Given the description of an element on the screen output the (x, y) to click on. 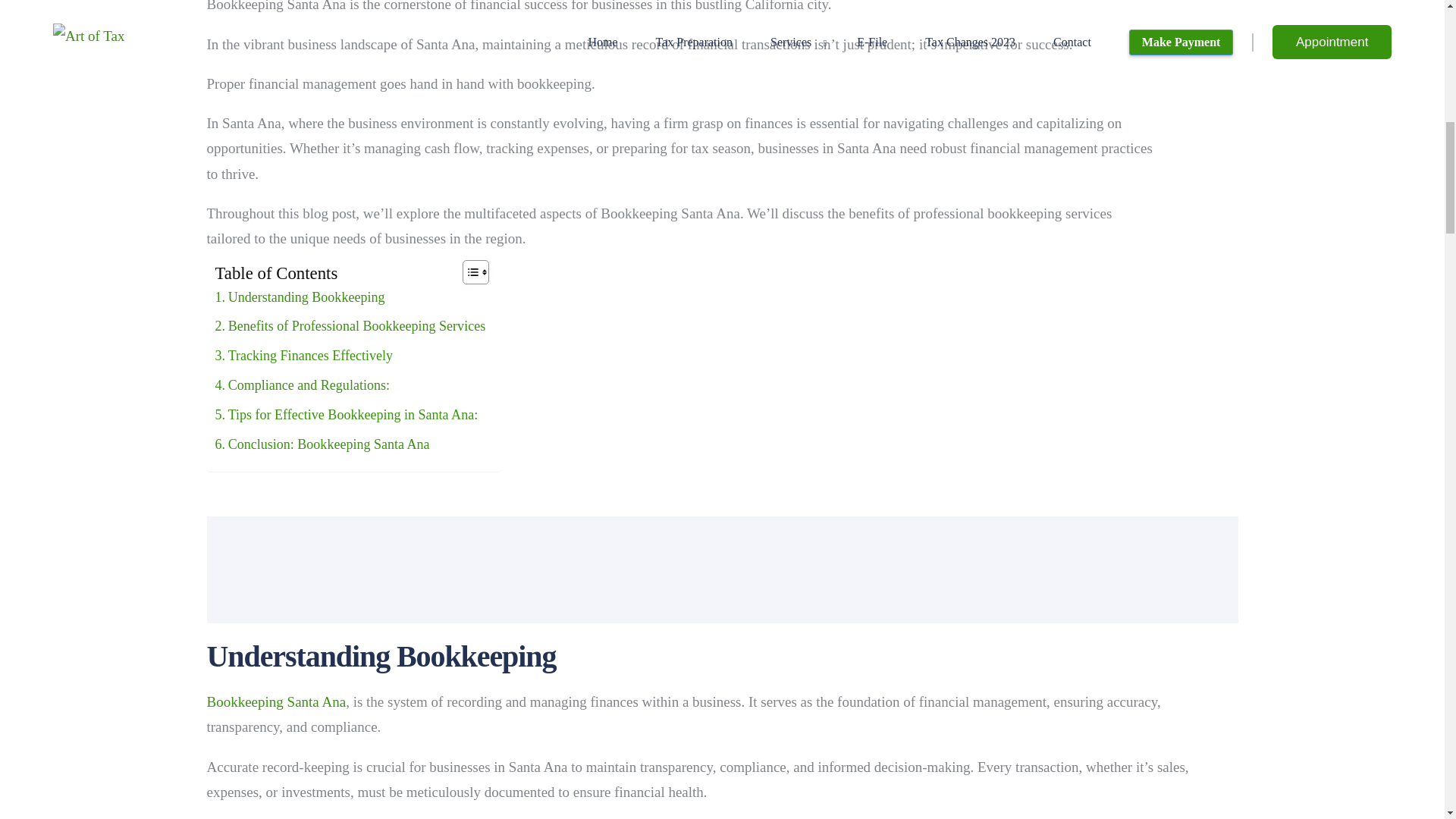
Bookkeeping Santa Ana (276, 701)
Understanding Bookkeeping (300, 301)
Benefits of Professional Bookkeeping Services (350, 329)
Tracking Finances Effectively (304, 359)
Understanding Bookkeeping (300, 301)
Conclusion: Bookkeeping Santa Ana (322, 448)
Compliance and Regulations: (302, 389)
Tips for Effective Bookkeeping in Santa Ana: (347, 419)
Conclusion: Bookkeeping Santa Ana (322, 448)
Benefits of Professional Bookkeeping Services (350, 329)
